Given the description of an element on the screen output the (x, y) to click on. 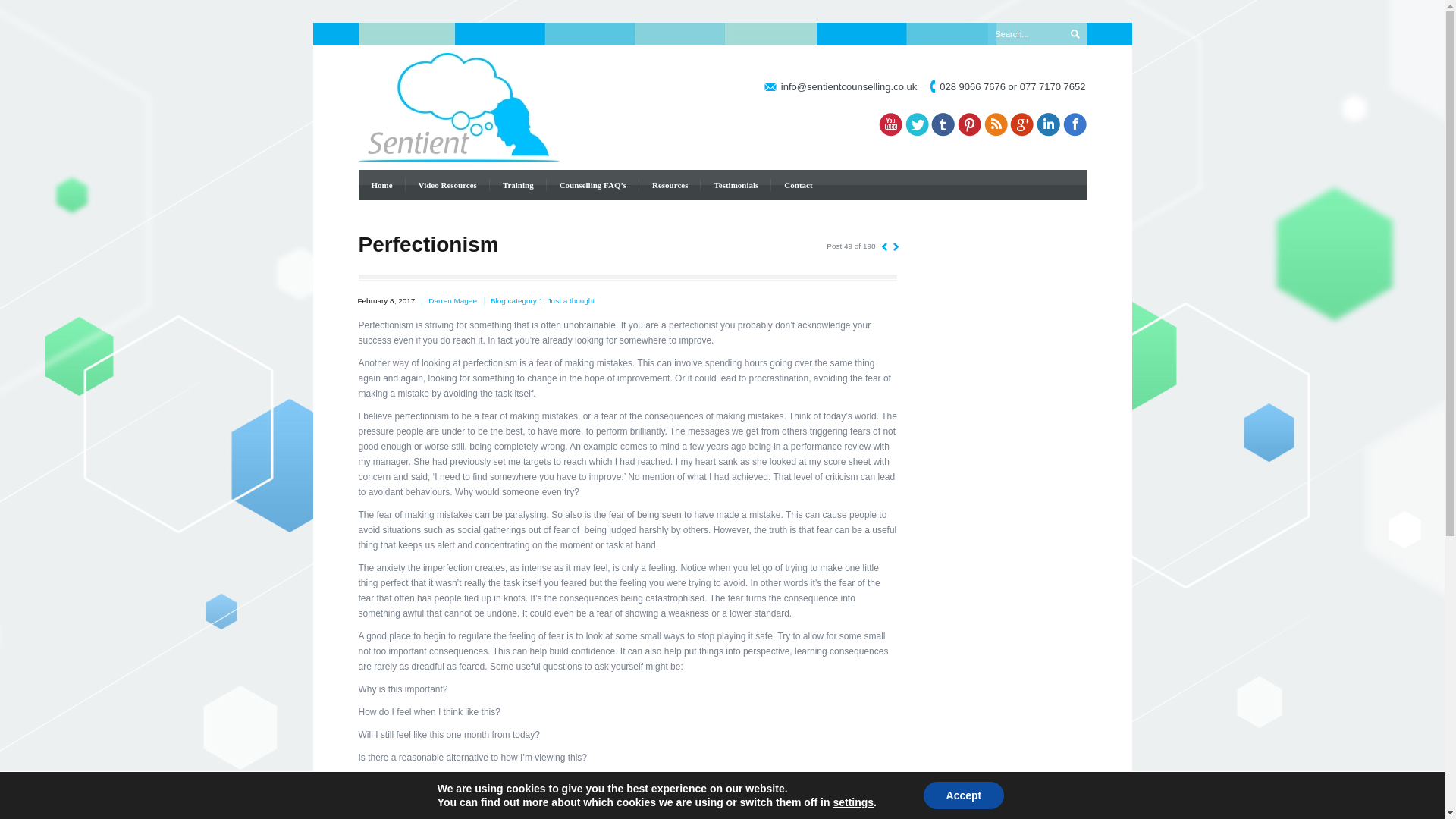
Blog category 1 (516, 300)
Testimonials (735, 184)
Darren Magee (452, 300)
Accept (963, 795)
Video Resources (447, 184)
Resources (669, 184)
Just a thought (571, 300)
Contact (797, 184)
Training (517, 184)
Search... (1026, 33)
Home (381, 184)
Search... (1026, 33)
